Given the description of an element on the screen output the (x, y) to click on. 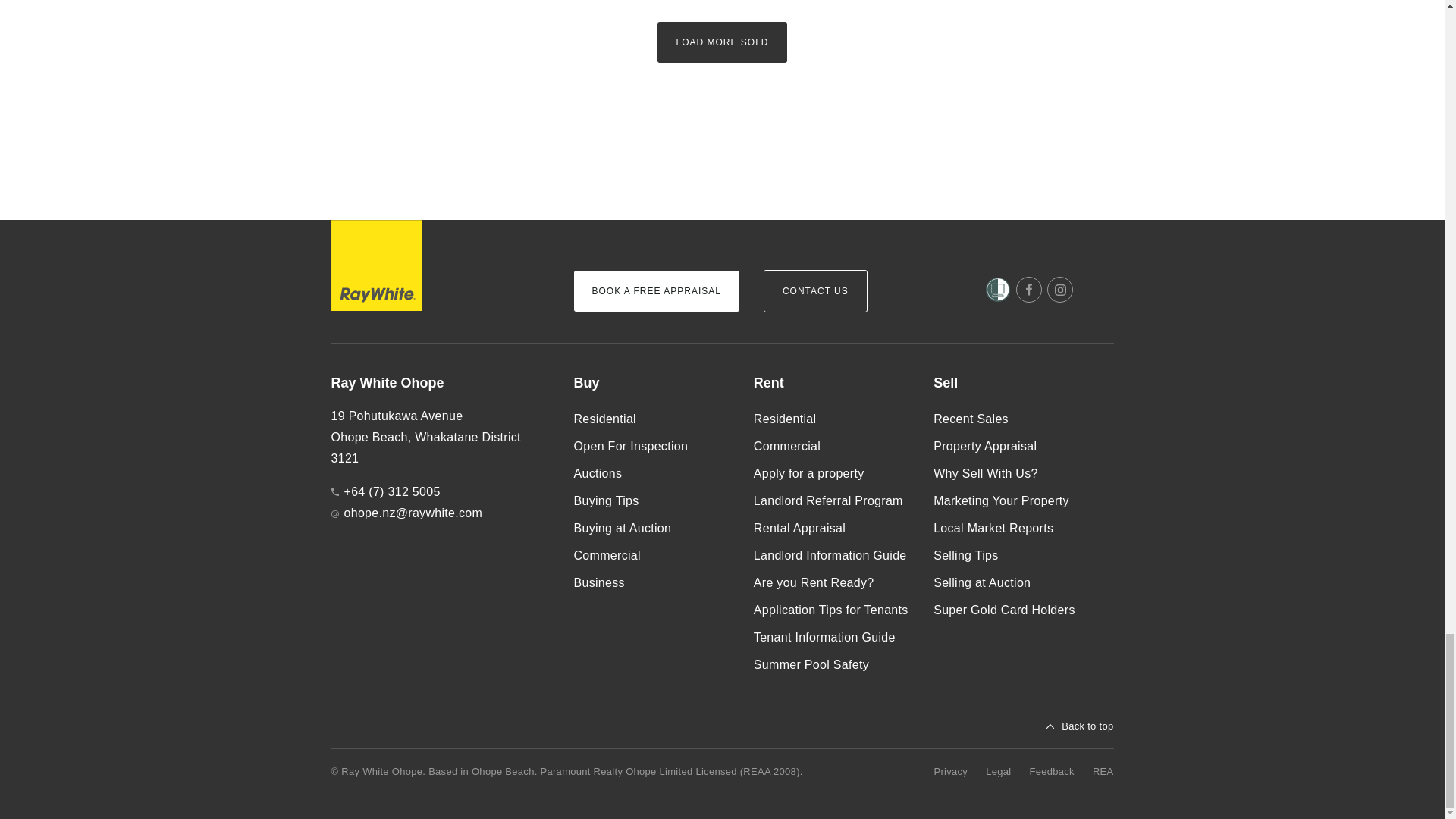
Facebook (1029, 289)
Ray White (376, 265)
Ray White Ohope (439, 383)
CONTACT US (814, 291)
BOOK A FREE APPRAISAL (655, 291)
Instagram (1059, 289)
LOAD MORE SOLD (722, 42)
